Given the description of an element on the screen output the (x, y) to click on. 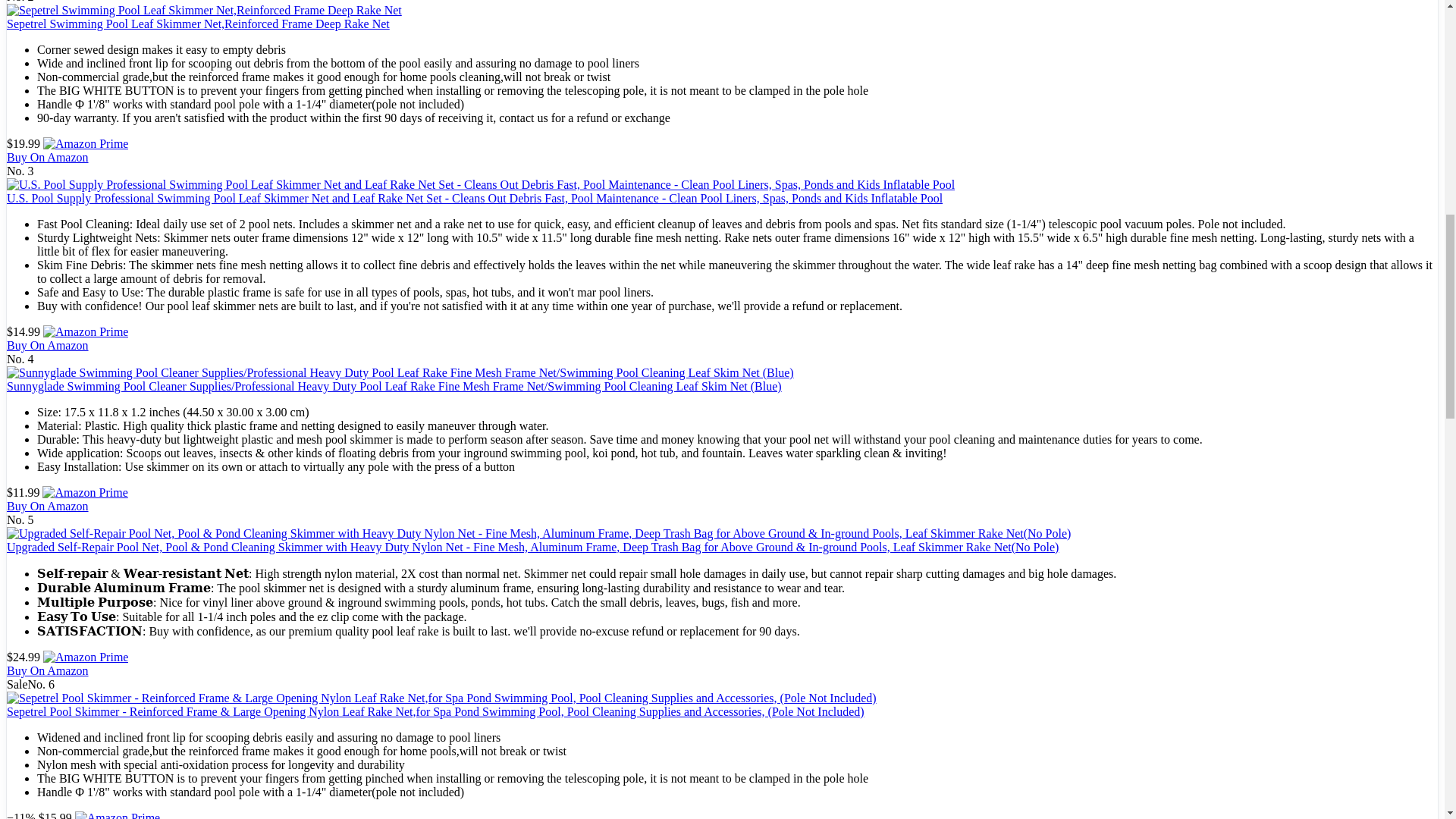
Buy On Amazon (47, 670)
Buy On Amazon (47, 345)
Amazon Prime (85, 143)
Buy On Amazon (47, 156)
Buy On Amazon (47, 505)
Buy On Amazon (47, 156)
